Given the description of an element on the screen output the (x, y) to click on. 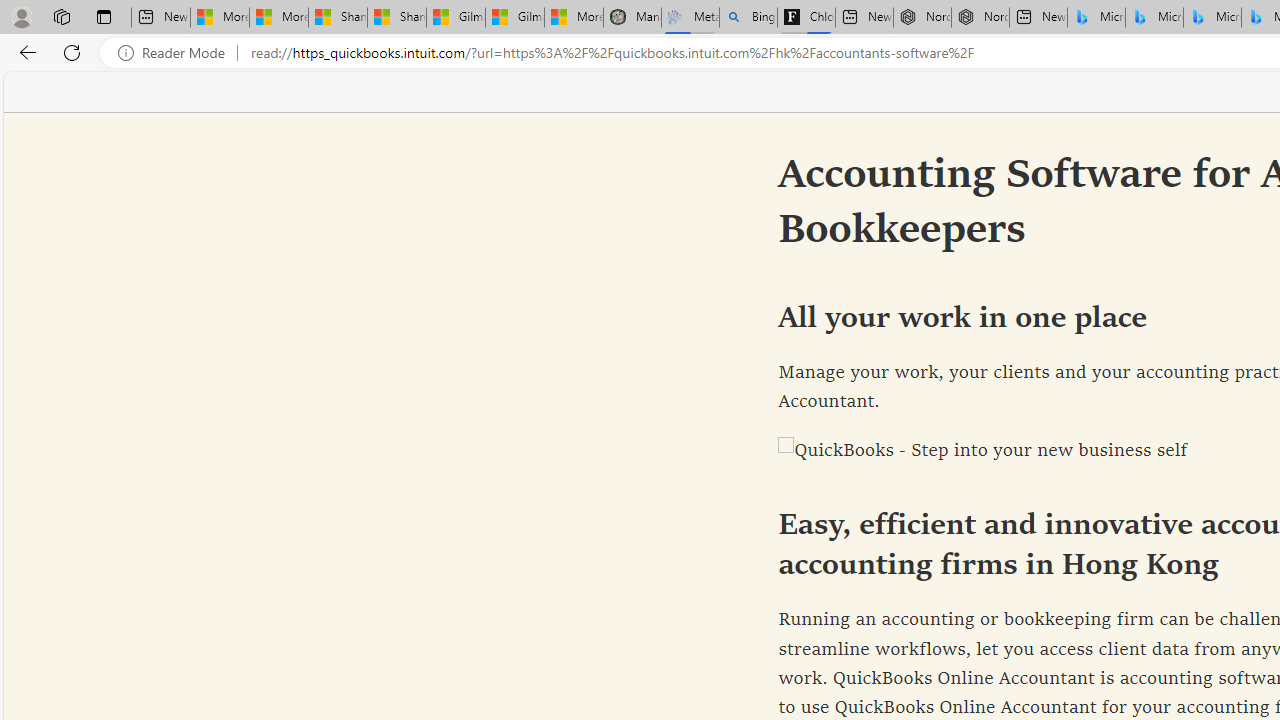
Manatee Mortality Statistics | FWC (632, 17)
Microsoft Bing Travel - Stays in Bangkok, Bangkok, Thailand (1154, 17)
Chloe Sorvino (806, 17)
Reader Mode (177, 53)
Bing Real Estate - Home sales and rental listings (747, 17)
